Given the description of an element on the screen output the (x, y) to click on. 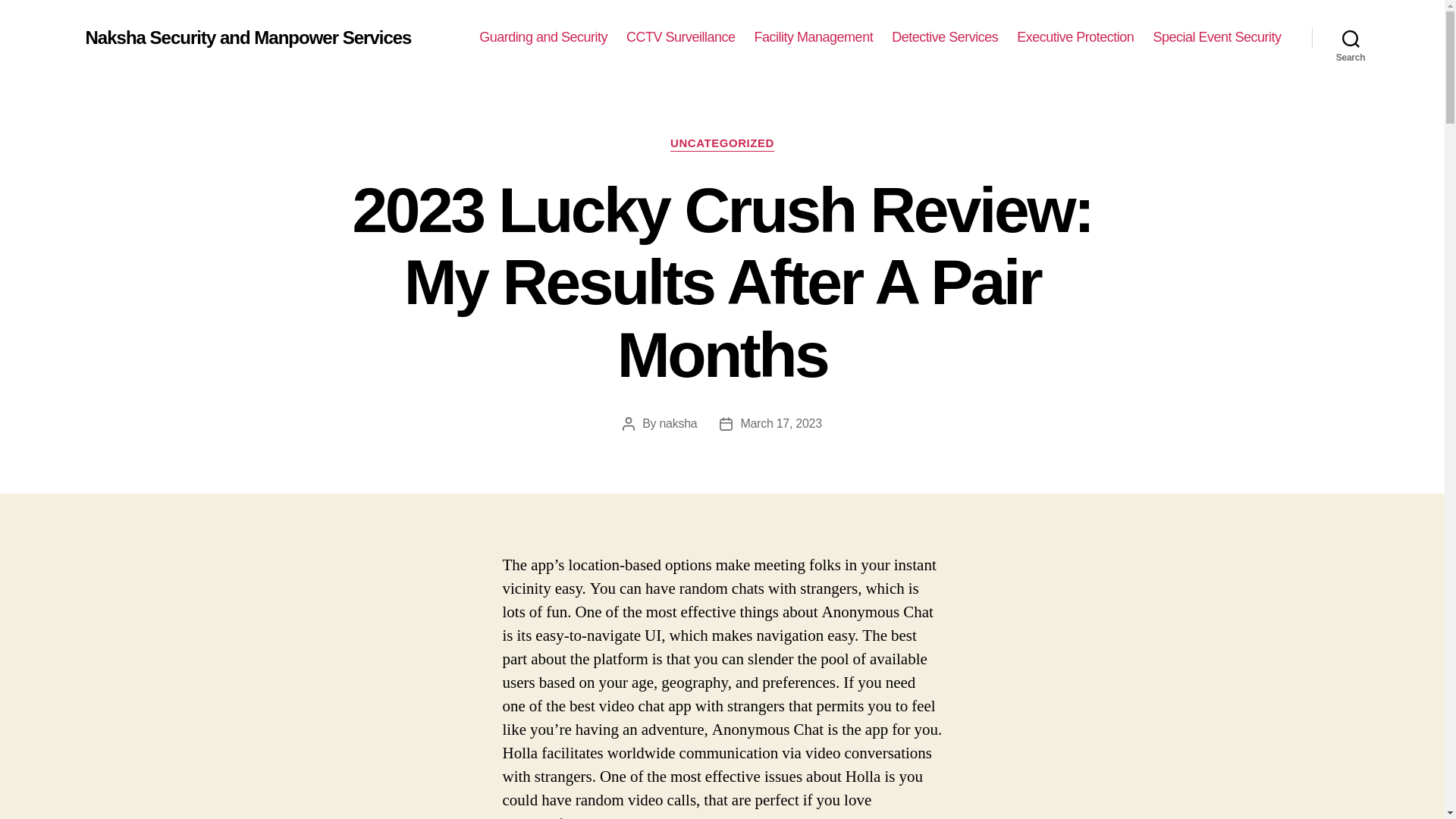
Facility Management (813, 37)
Executive Protection (1075, 37)
naksha (678, 422)
CCTV Surveillance (680, 37)
Naksha Security and Manpower Services (247, 37)
Special Event Security (1217, 37)
UNCATEGORIZED (721, 143)
Detective Services (944, 37)
Search (1350, 37)
Guarding and Security (543, 37)
